Given the description of an element on the screen output the (x, y) to click on. 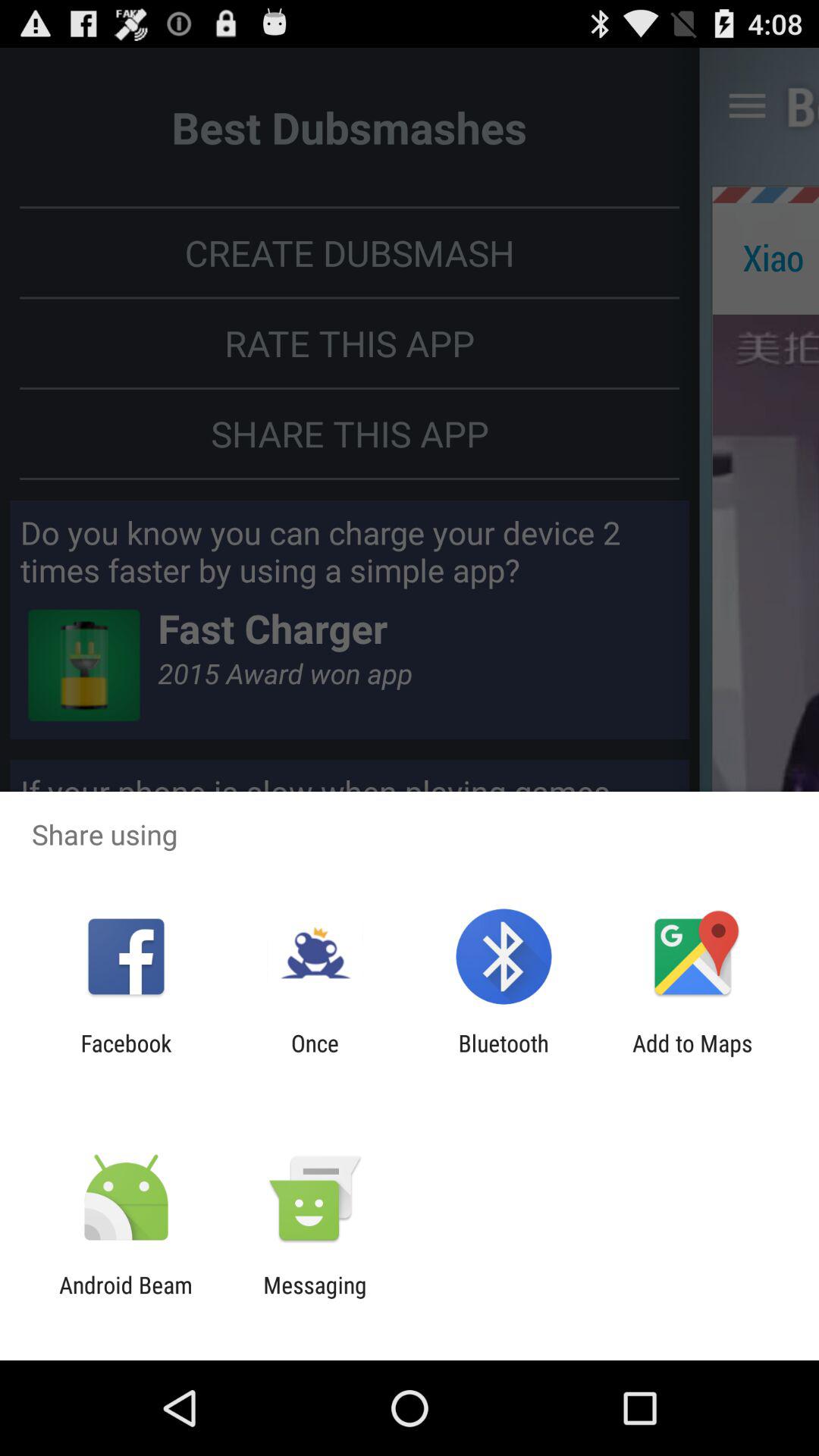
turn on the icon to the left of add to maps (503, 1056)
